Given the description of an element on the screen output the (x, y) to click on. 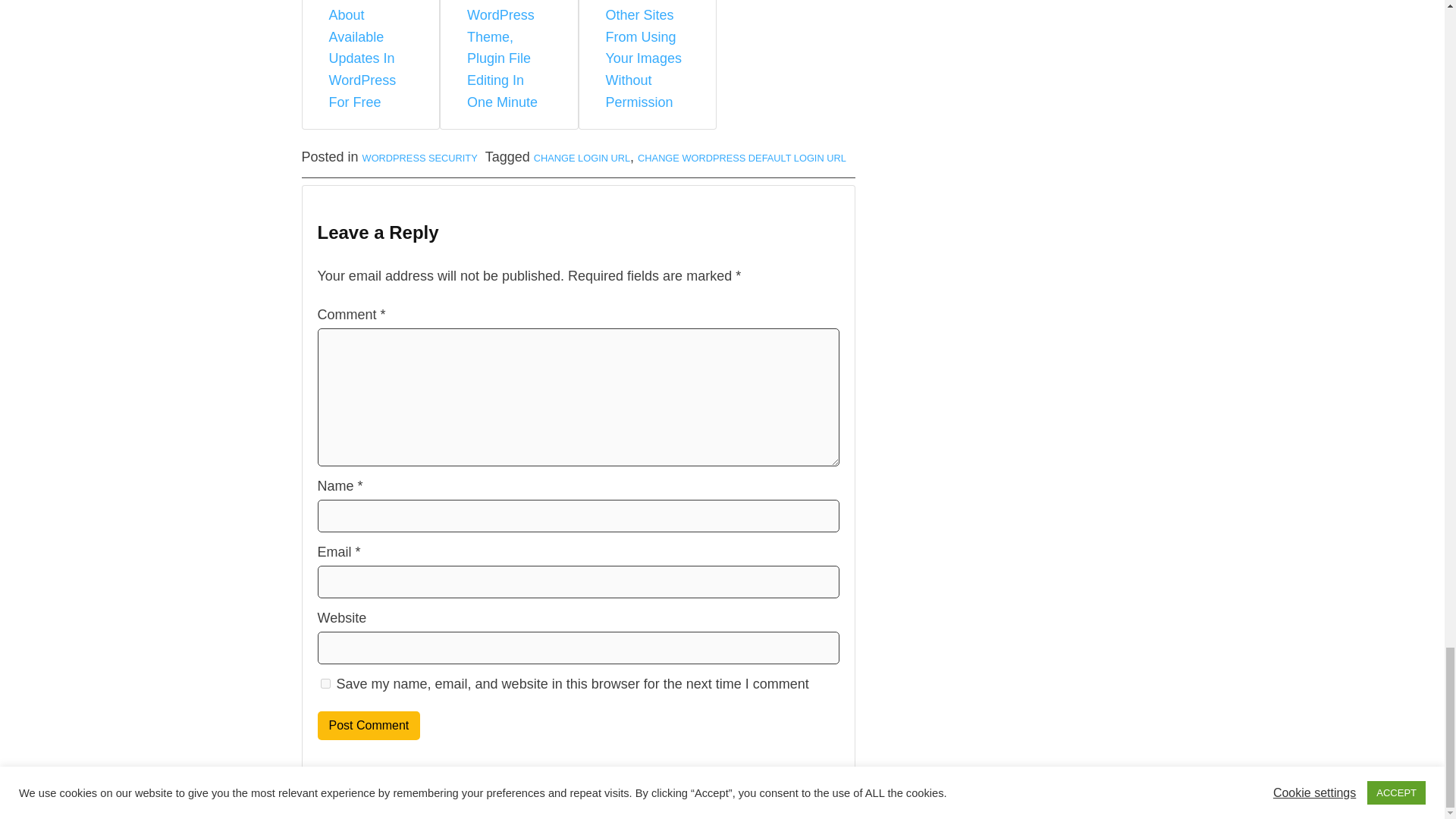
WORDPRESS SECURITY (419, 157)
CHANGE LOGIN URL (582, 157)
CHANGE WORDPRESS DEFAULT LOGIN URL (741, 157)
yes (325, 683)
Post Comment (368, 725)
Post Comment (368, 725)
